Given the description of an element on the screen output the (x, y) to click on. 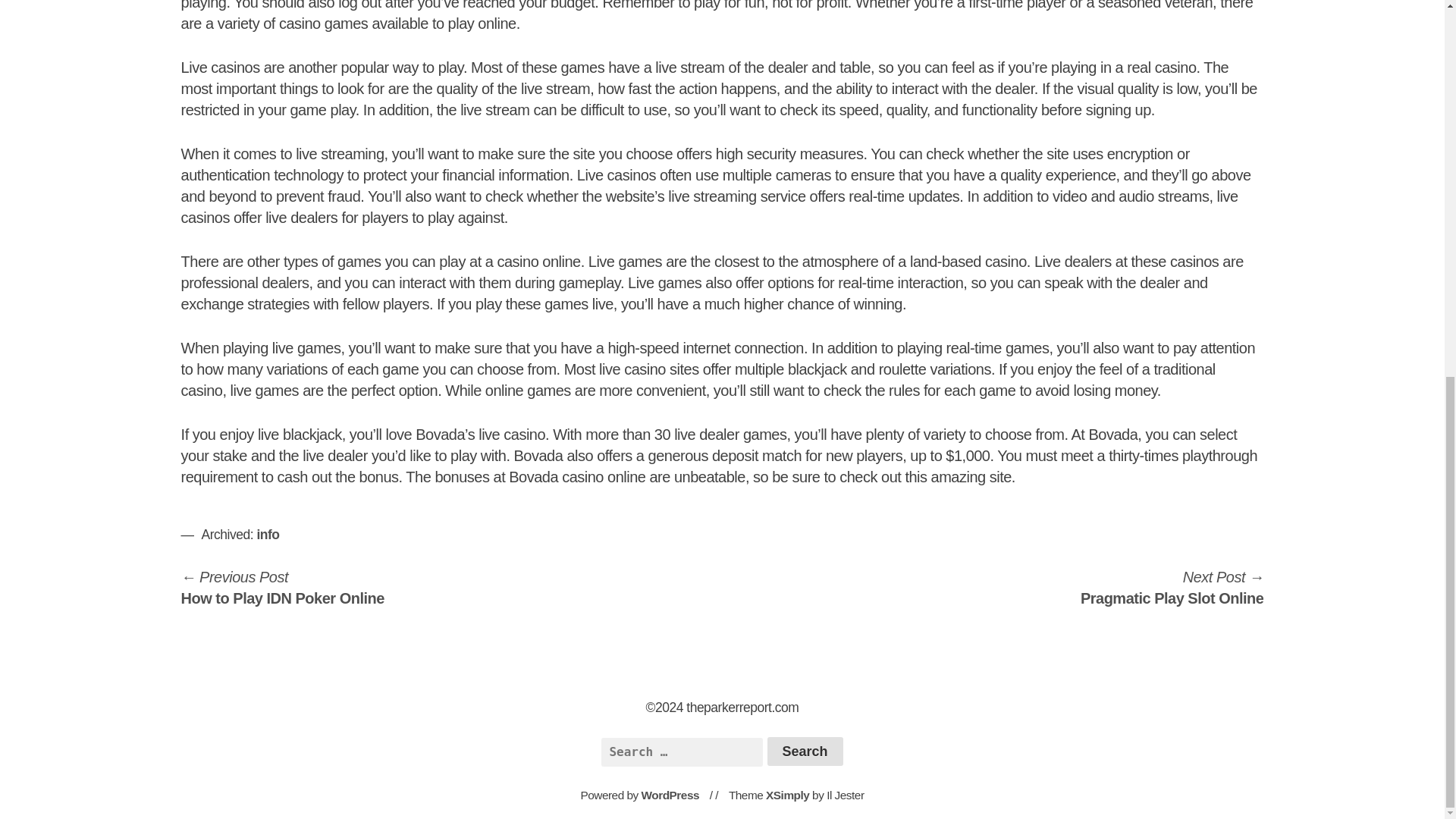
Search (805, 751)
Search (1171, 587)
XSimply (805, 751)
info (787, 794)
WordPress (267, 534)
Search (282, 587)
